Given the description of an element on the screen output the (x, y) to click on. 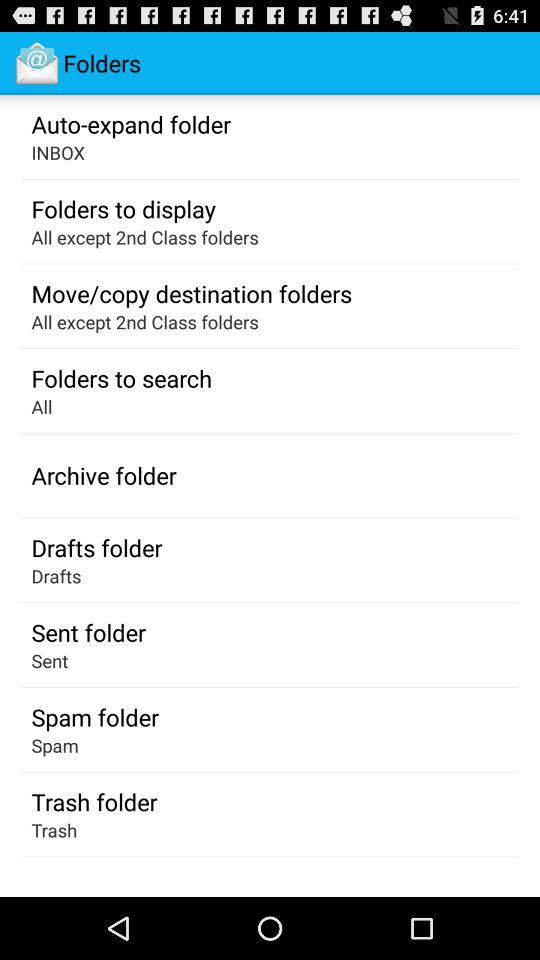
flip until sent folder item (88, 632)
